Given the description of an element on the screen output the (x, y) to click on. 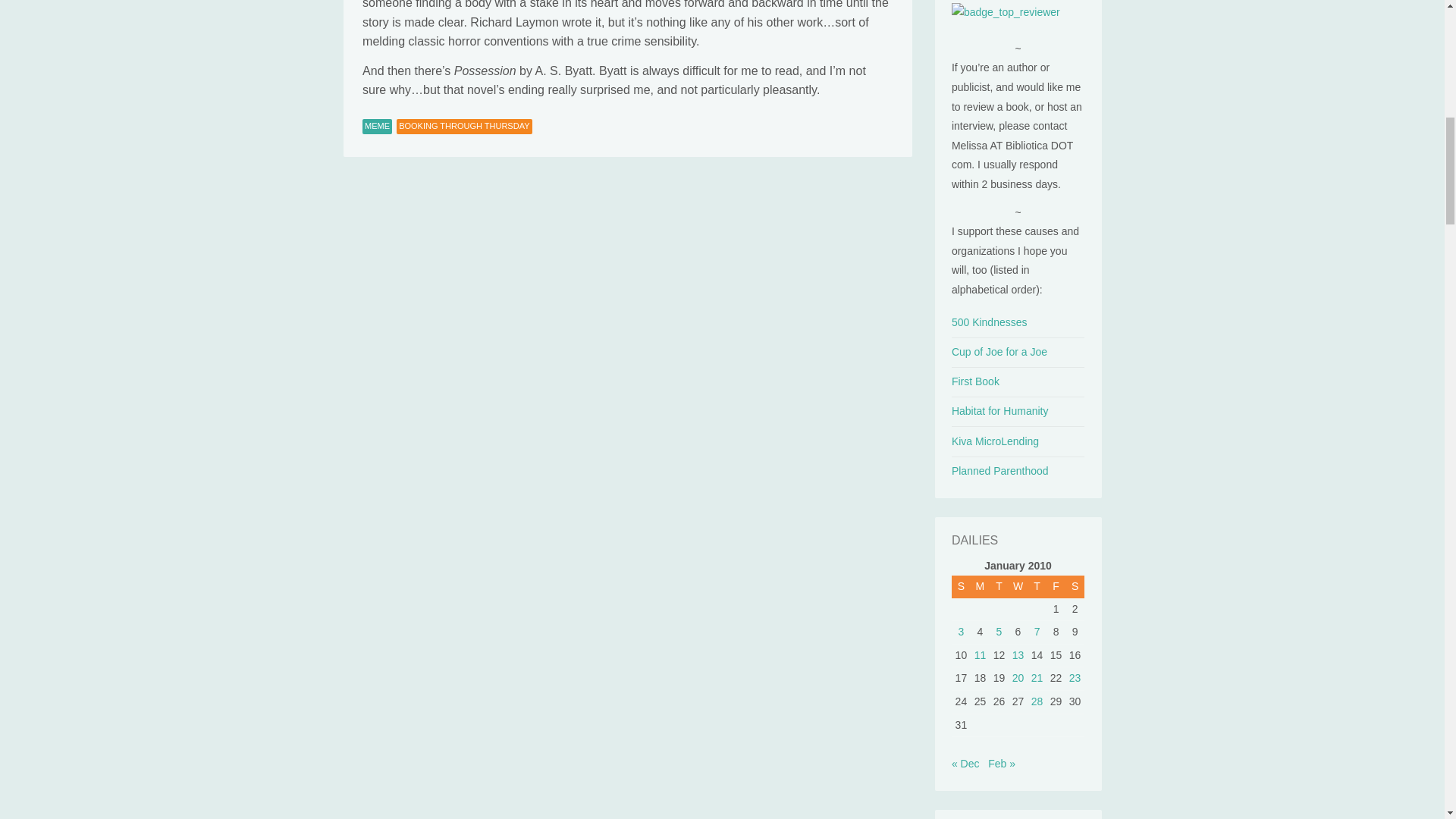
First Book (975, 381)
500 Kindnesses (989, 322)
MEME (376, 126)
Cup of Joe for a Joe (999, 351)
BOOKING THROUGH THURSDAY (463, 126)
